Given the description of an element on the screen output the (x, y) to click on. 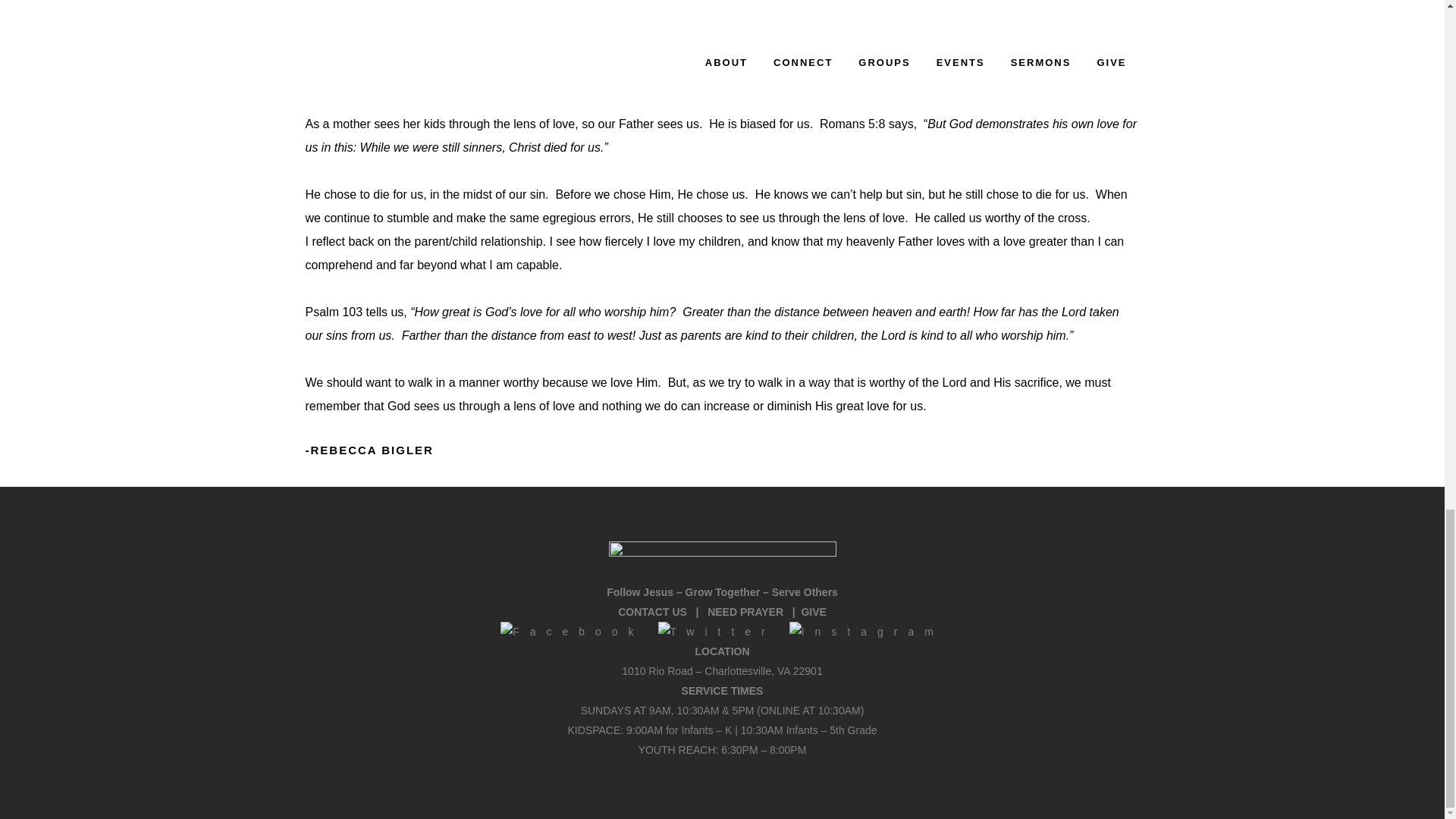
CONTACT US (652, 612)
GIVE (812, 612)
NEED PRAYER (745, 612)
